Given the description of an element on the screen output the (x, y) to click on. 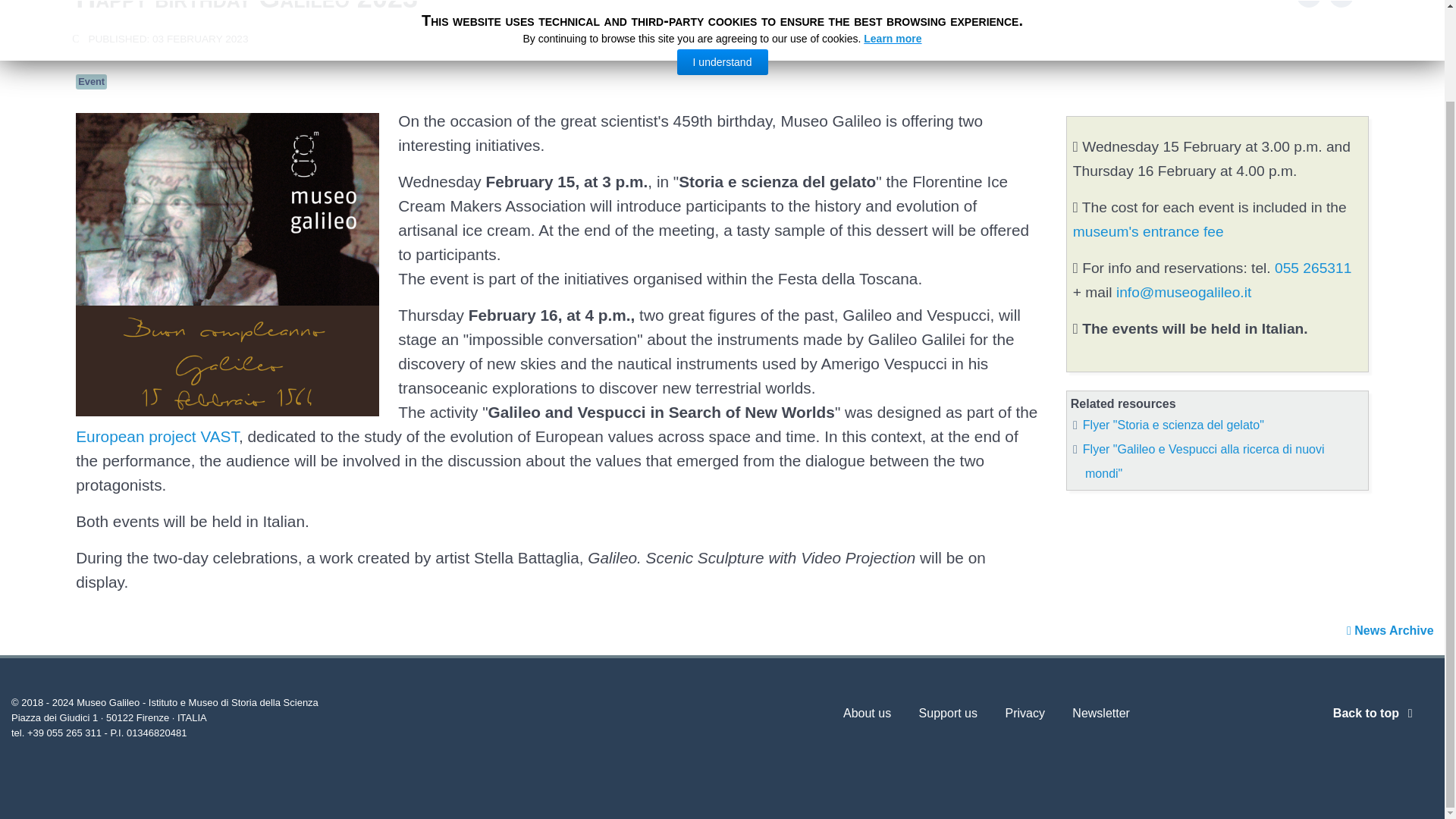
Back to top (1375, 712)
Facebook (1308, 1)
Privacy (1023, 716)
Support us (947, 716)
About us (867, 716)
Twitter (1341, 1)
Newsletter (1100, 716)
